Given the description of an element on the screen output the (x, y) to click on. 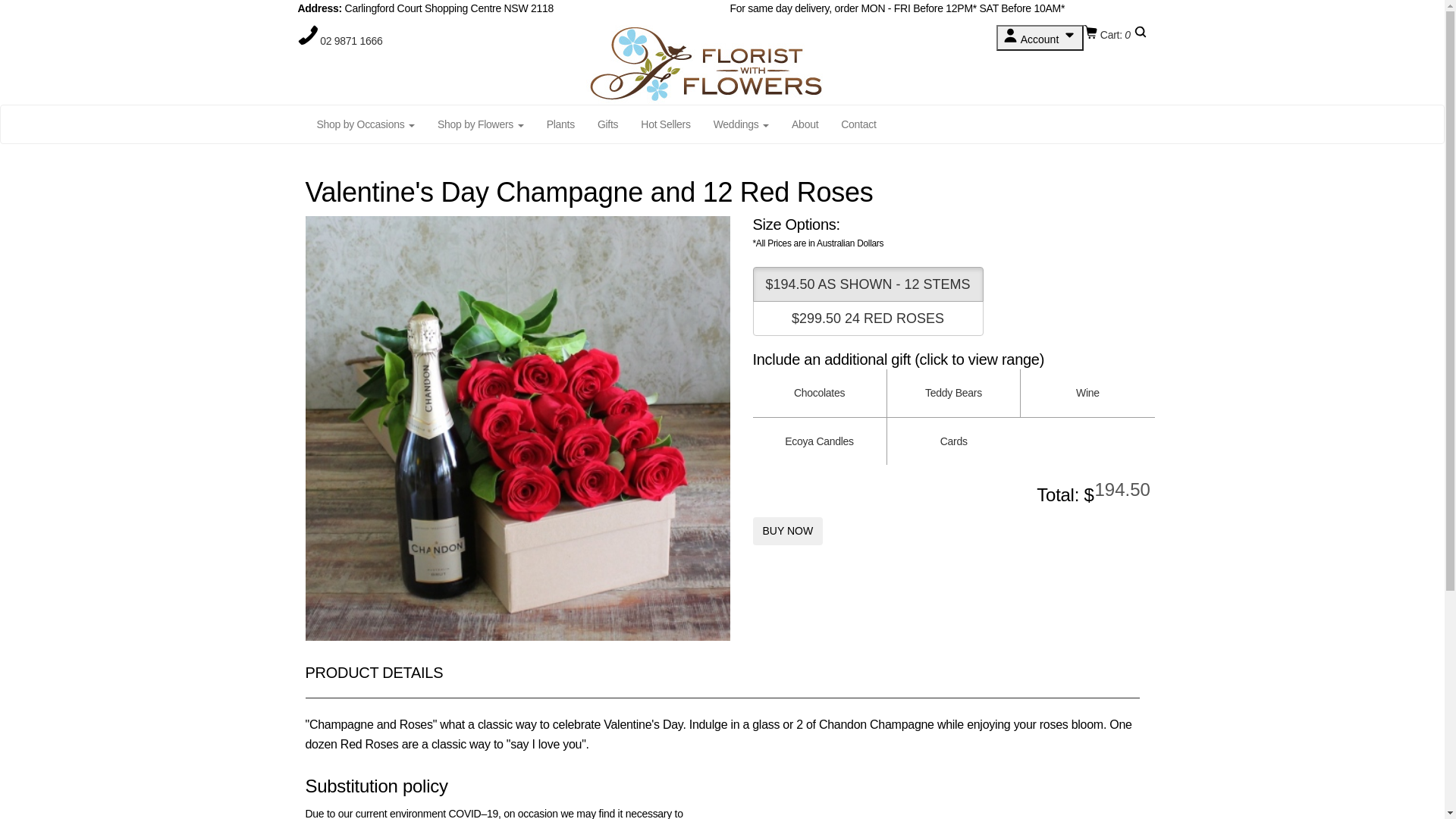
About Element type: text (804, 124)
Hot Sellers Element type: text (665, 124)
Search Element type: hover (1139, 34)
Contact Element type: text (858, 124)
Chocolates Element type: text (818, 392)
BUY NOW Element type: text (787, 530)
Account Element type: text (1040, 37)
Shop by Occasions Element type: text (364, 124)
Cards Element type: text (953, 441)
$299.50 24 RED ROSES Element type: text (867, 318)
Wine Element type: text (1087, 392)
Shop by Flowers Element type: text (480, 124)
Gifts Element type: text (607, 124)
Plants Element type: text (560, 124)
02 9871 1666 Element type: text (351, 40)
Weddings Element type: text (741, 124)
Ecoya Candles Element type: text (818, 441)
$194.50 AS SHOWN - 12 STEMS Element type: text (867, 283)
Teddy Bears Element type: text (953, 392)
